Given the description of an element on the screen output the (x, y) to click on. 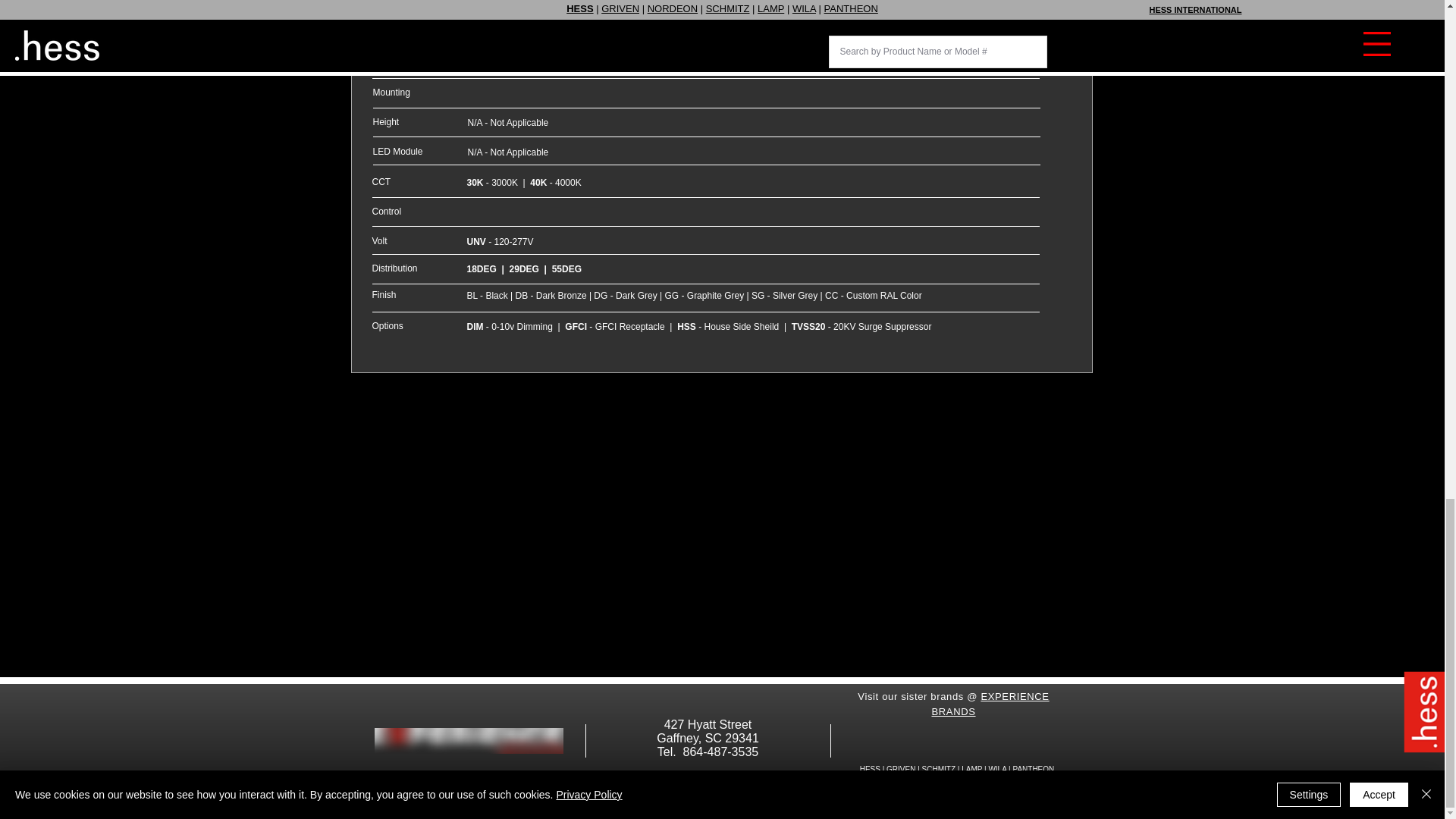
HESS (870, 768)
GRIVEN (900, 768)
LAMP (970, 768)
SCHMITZ (938, 768)
WILA (997, 768)
